Given the description of an element on the screen output the (x, y) to click on. 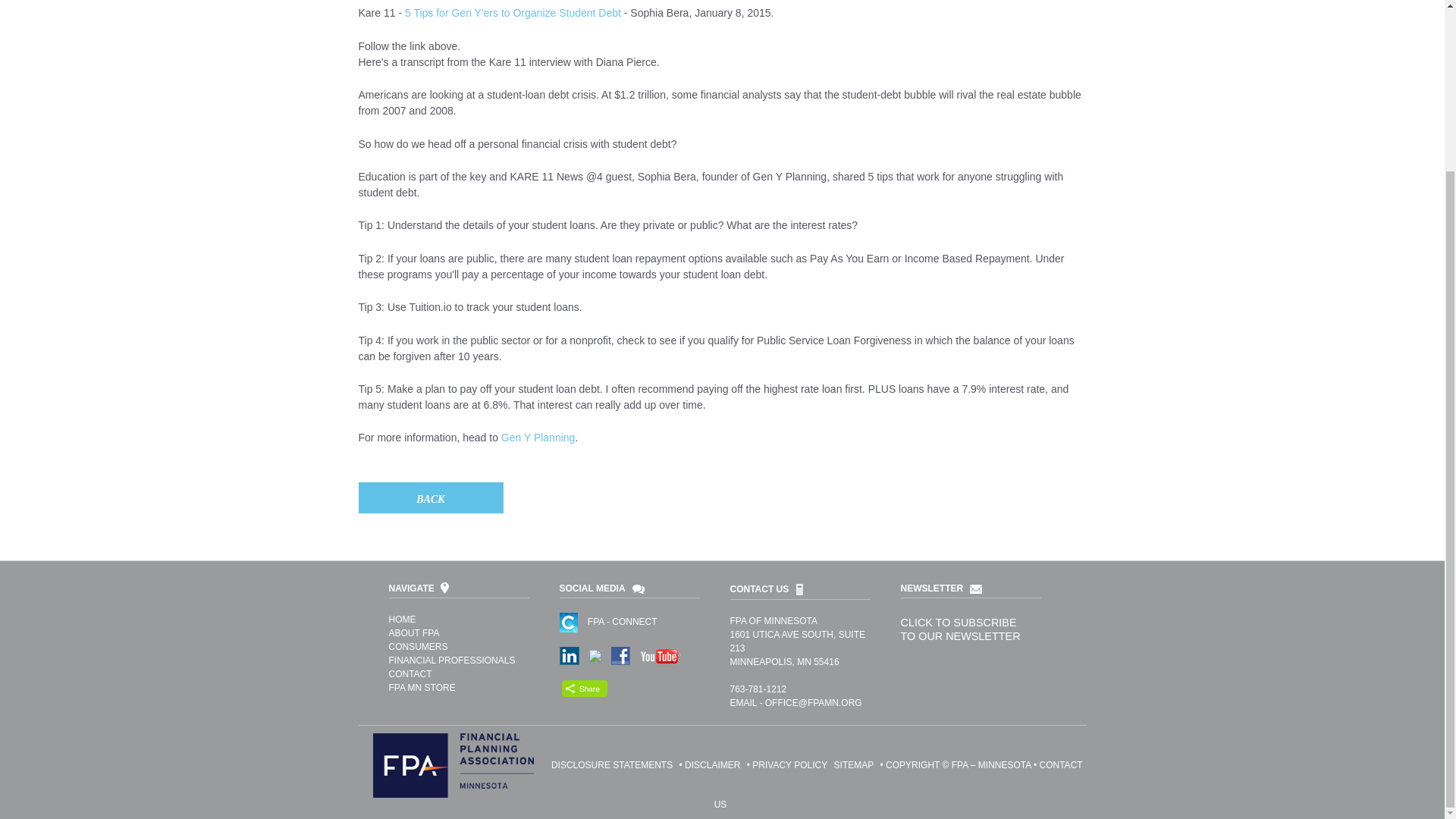
ABOUT FPA (413, 633)
Gen Y Planning (537, 437)
HOME (401, 619)
5 Tips for Gen Y'ers to Organize Student Debt (512, 12)
5 Tips for Gen Y'ers to Organize Student Debt (512, 12)
BACK (430, 497)
